Given the description of an element on the screen output the (x, y) to click on. 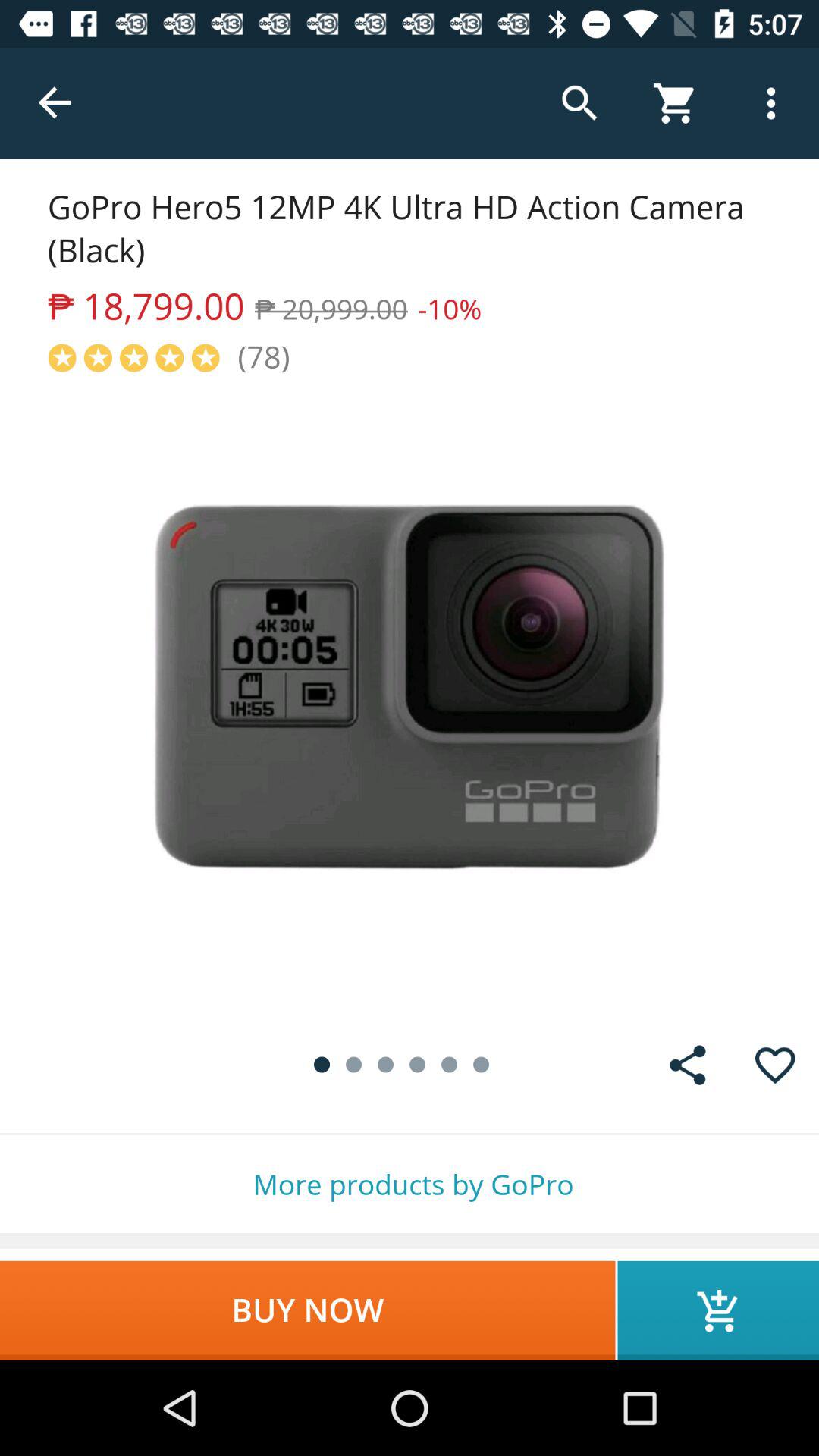
like (775, 1065)
